Given the description of an element on the screen output the (x, y) to click on. 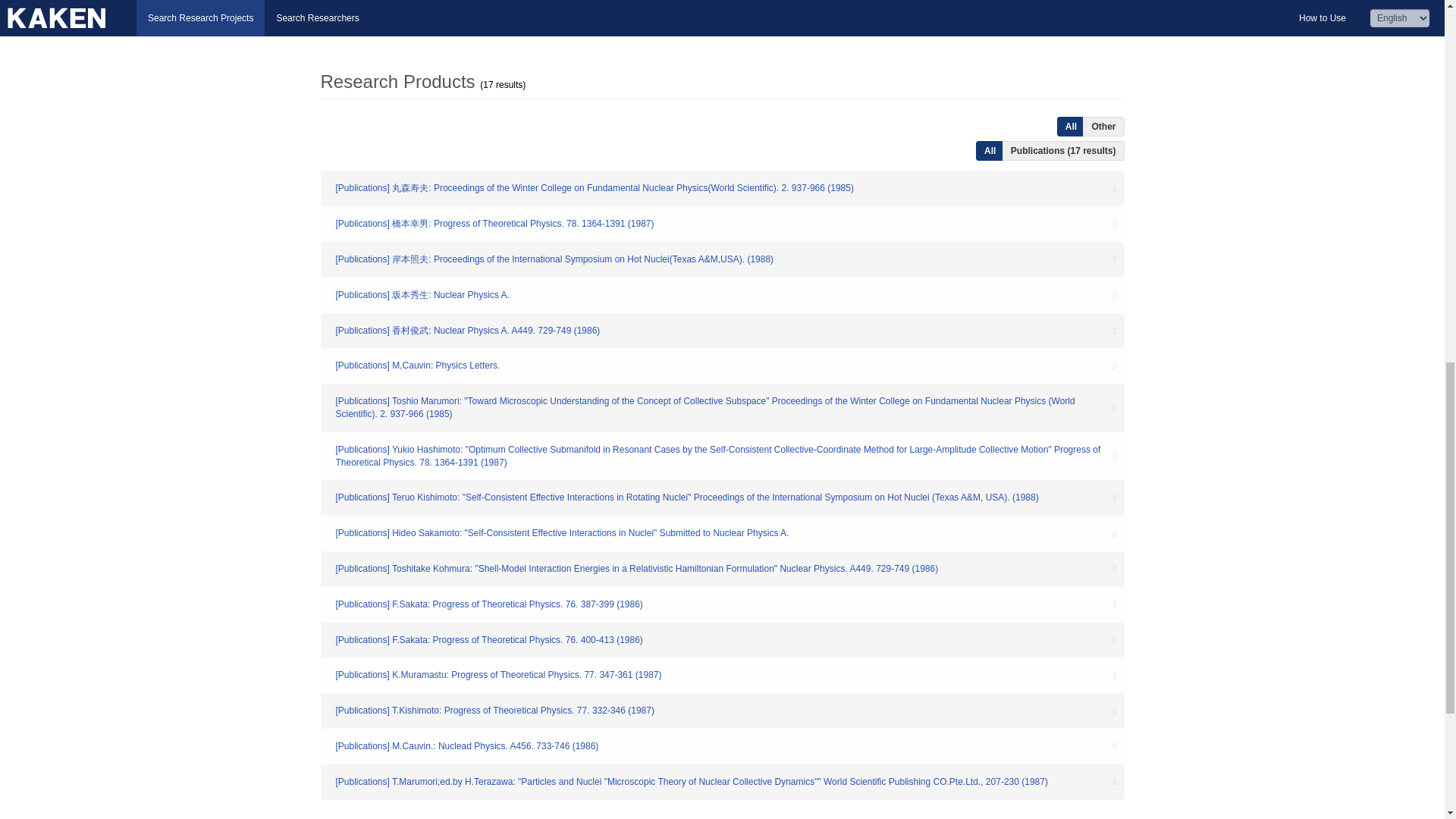
Other (1103, 126)
All (989, 150)
All (1070, 126)
Annual Research Report (417, 19)
